Given the description of an element on the screen output the (x, y) to click on. 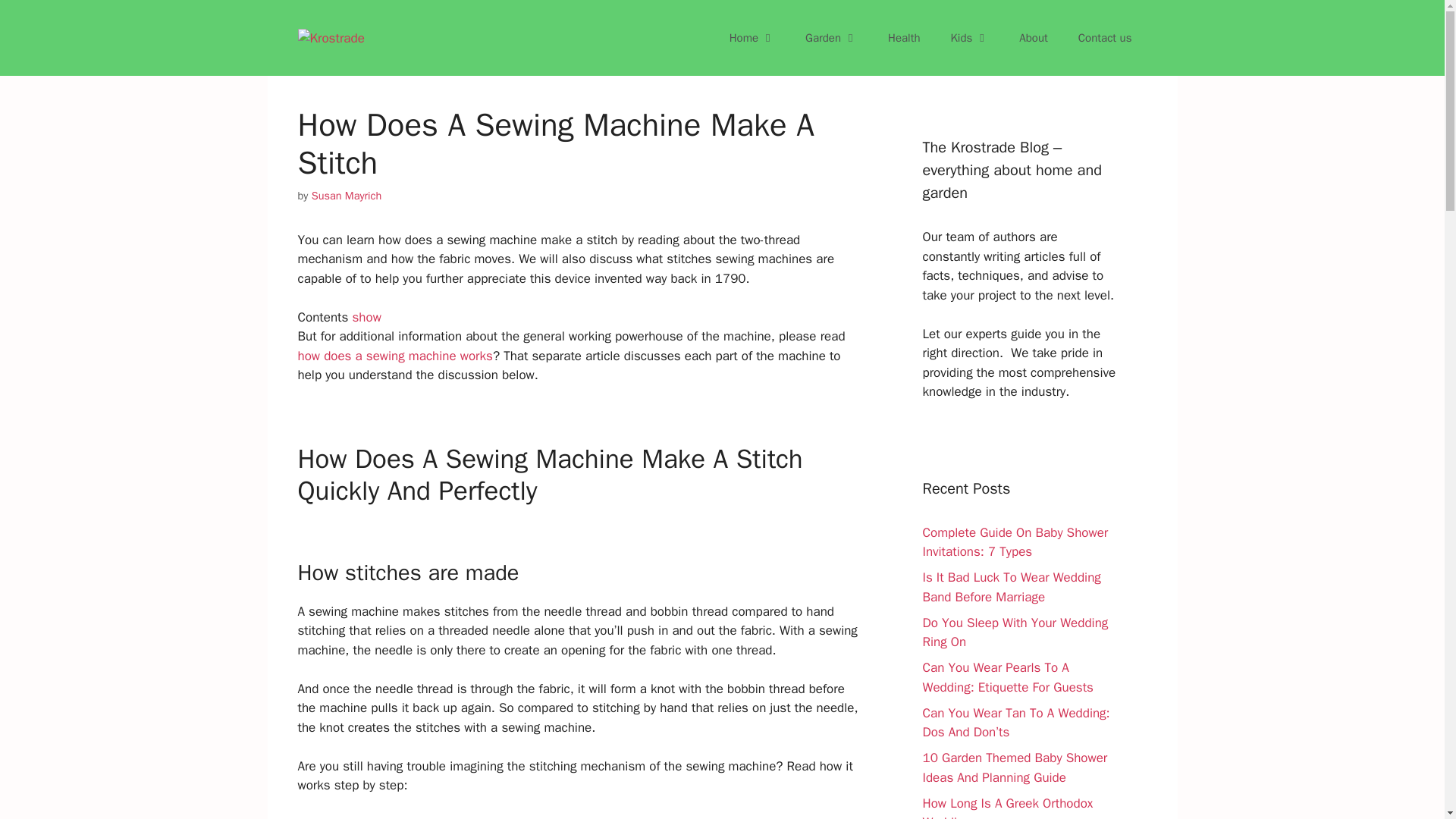
Garden (831, 37)
Health (904, 37)
Contact us (1104, 37)
View all posts by Susan Mayrich (346, 195)
About (1033, 37)
show (366, 317)
Kids (970, 37)
Home (752, 37)
Susan Mayrich (346, 195)
